Given the description of an element on the screen output the (x, y) to click on. 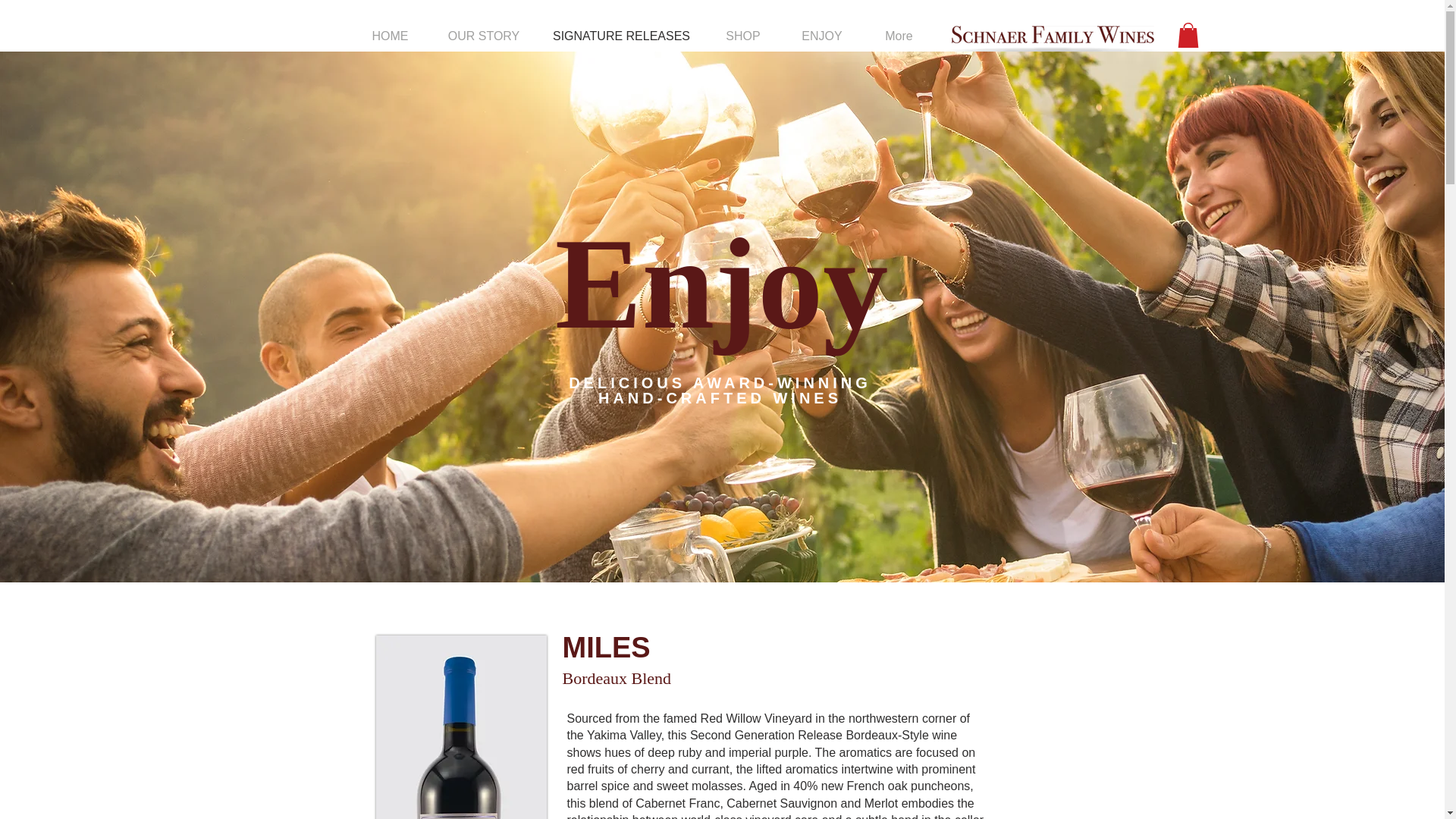
ENJOY (820, 36)
SIGNATURE RELEASES (621, 36)
HOME (389, 36)
SHOP (742, 36)
OUR STORY (483, 36)
